Given the description of an element on the screen output the (x, y) to click on. 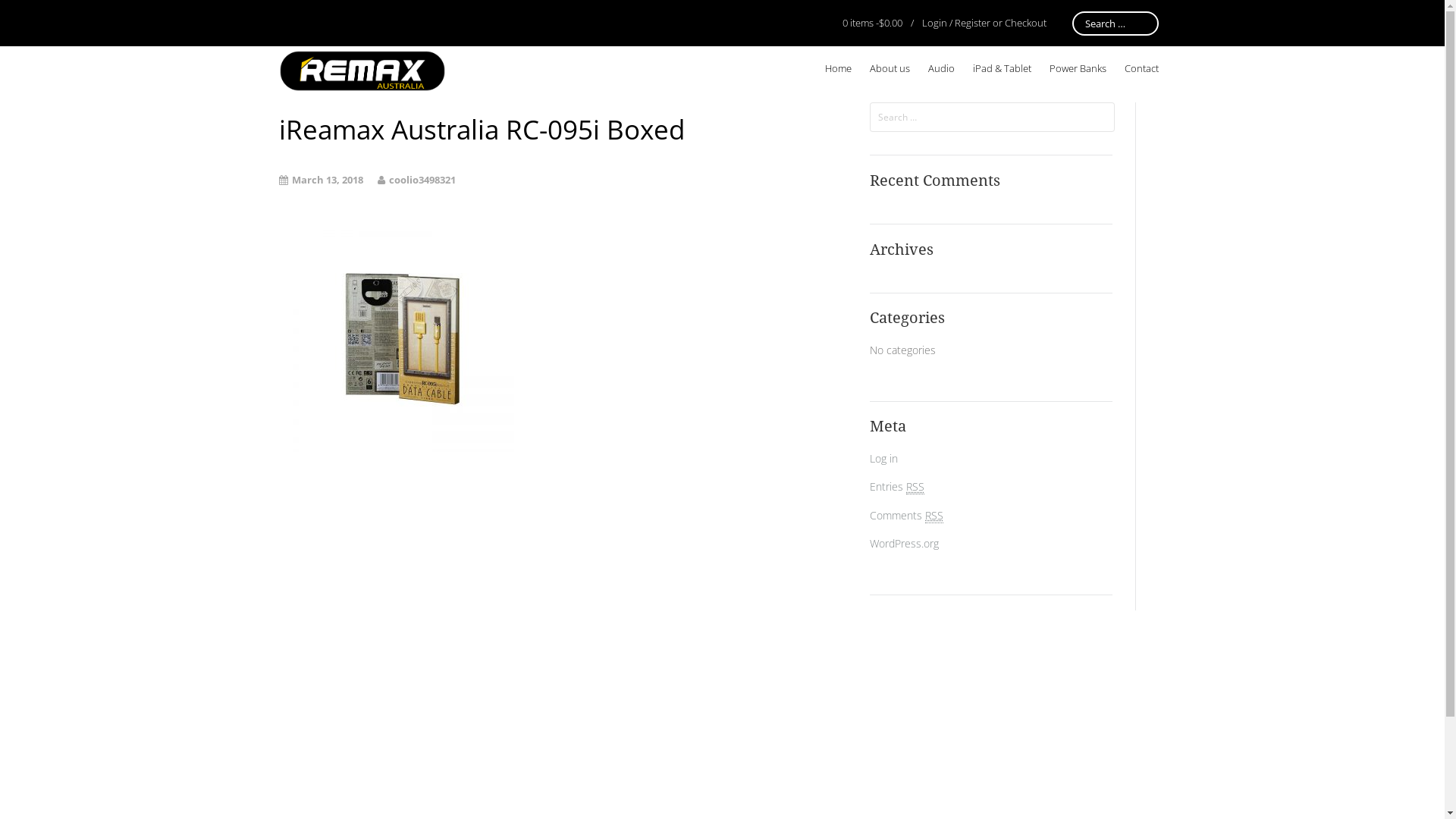
Checkout Element type: text (1024, 22)
Search Element type: text (32, 15)
WordPress.org Element type: text (903, 543)
Entries RSS Element type: text (896, 486)
Audio Element type: text (941, 68)
Power Banks Element type: text (1077, 68)
Home Element type: text (838, 68)
Contact Element type: text (1140, 68)
About us Element type: text (888, 68)
Login / Register Element type: text (956, 22)
iPad & Tablet Element type: text (1001, 68)
Search for: Element type: hover (1115, 23)
Search for: Element type: hover (991, 116)
Log in Element type: text (883, 458)
Comments RSS Element type: text (906, 515)
0 items -
$
0.00 Element type: text (871, 22)
